Given the description of an element on the screen output the (x, y) to click on. 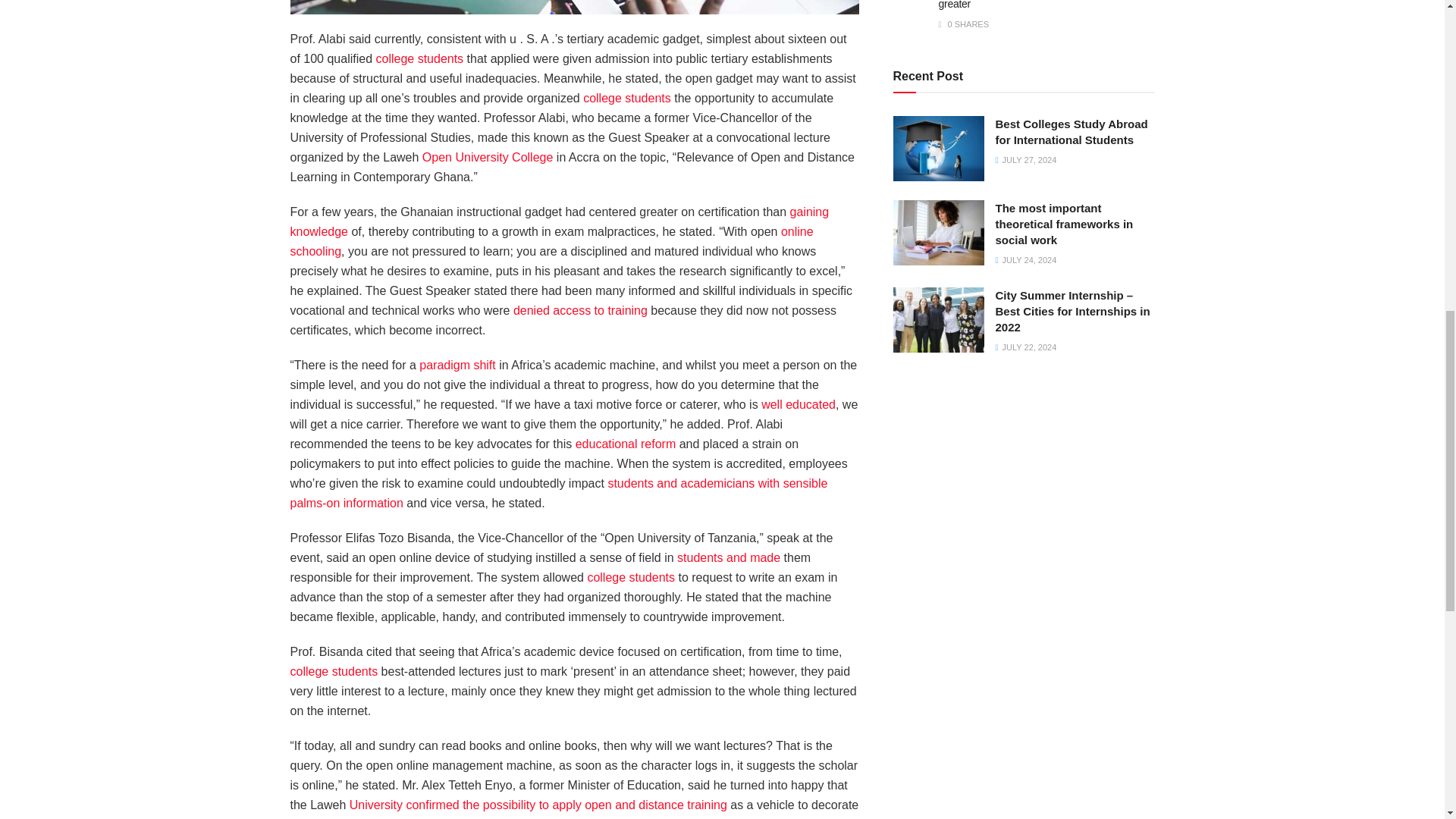
Let's aggressively sell on-line schooling - Prof. Alabi 1 (574, 7)
The most important theoretical frameworks in social work 5 (938, 232)
Best Colleges Study Abroad for International Students 4 (938, 148)
